Given the description of an element on the screen output the (x, y) to click on. 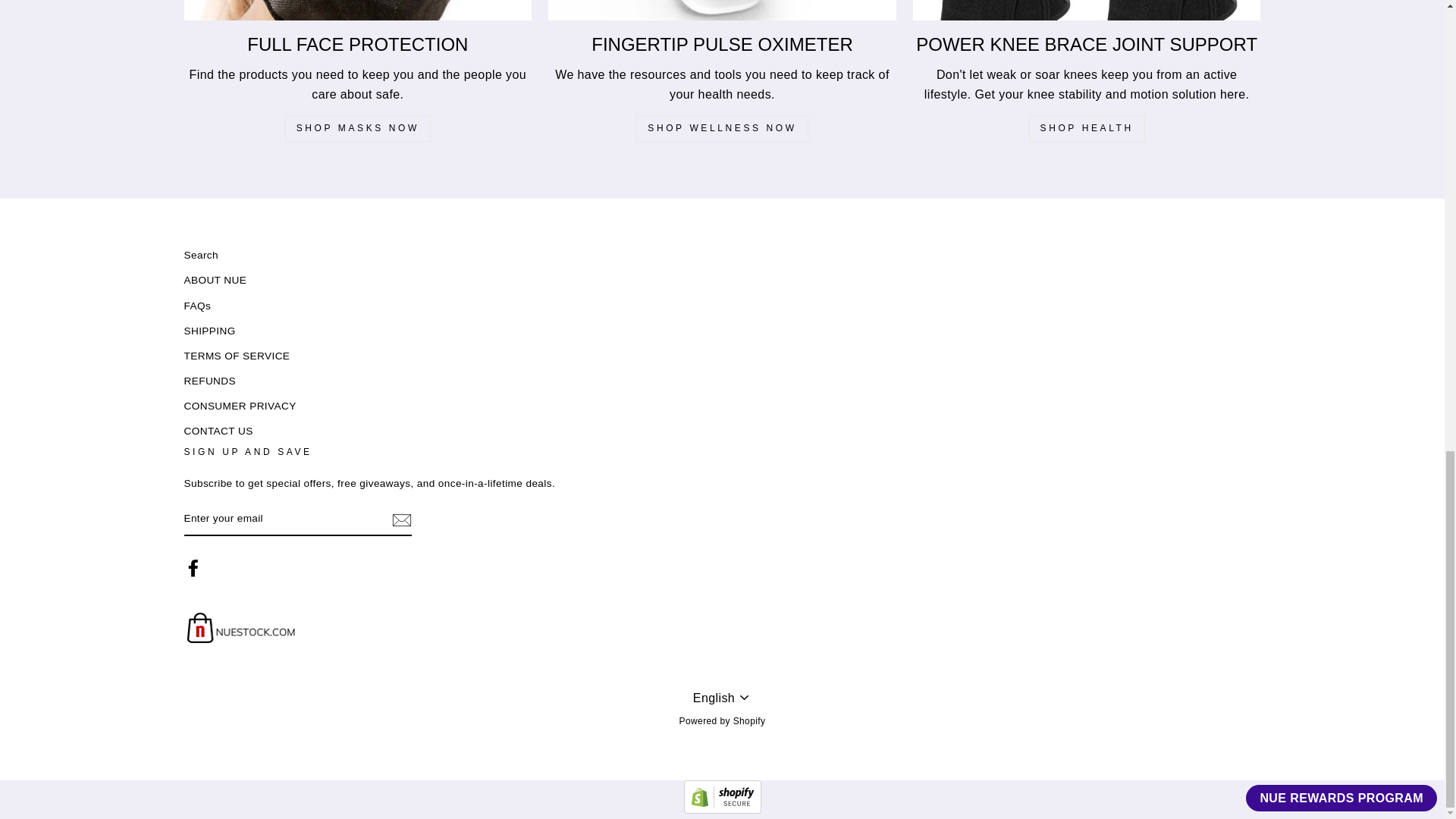
NUE on Facebook (192, 567)
This online store is secured by Shopify (722, 809)
